Given the description of an element on the screen output the (x, y) to click on. 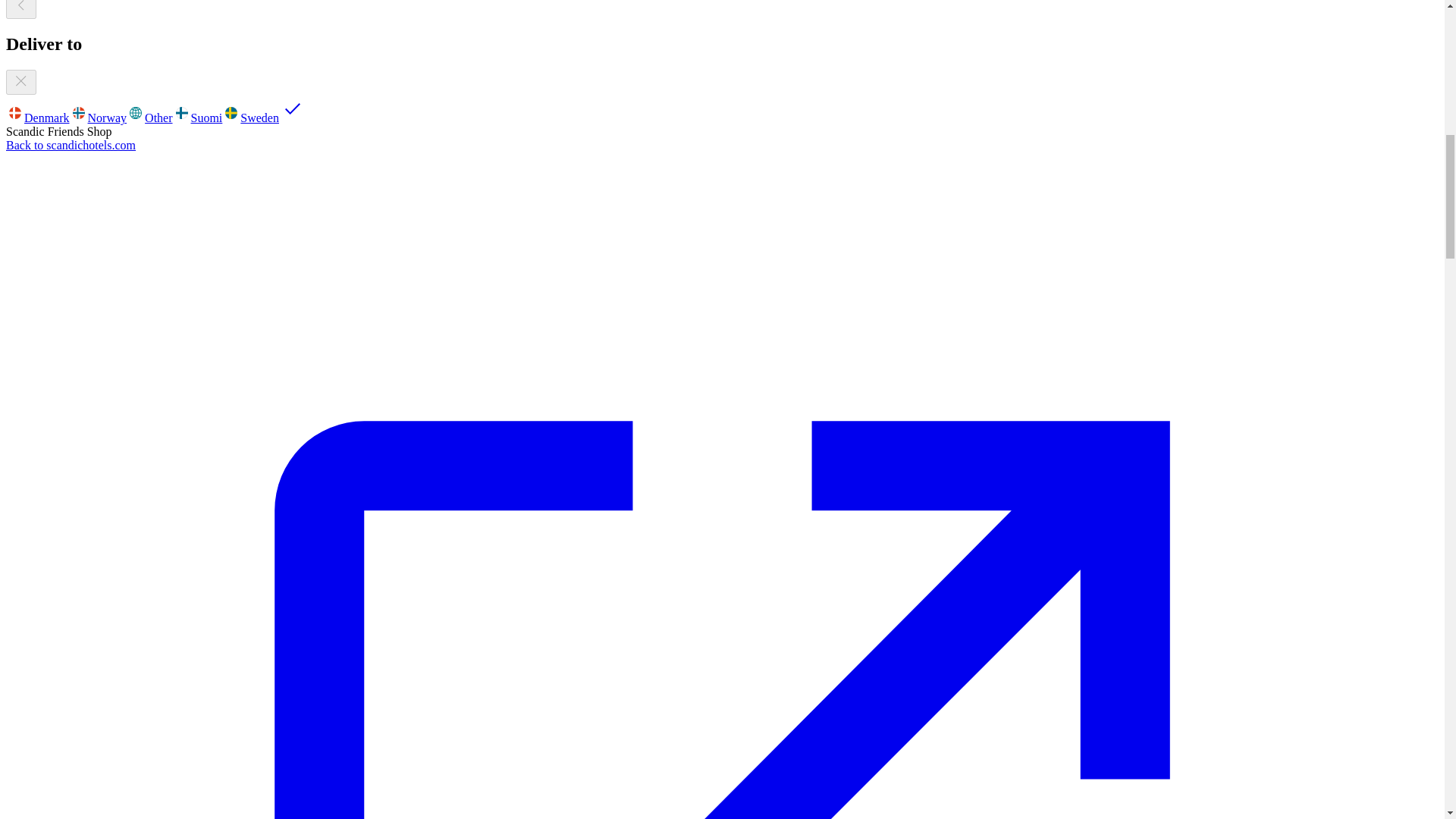
Sweden (263, 117)
Other (148, 117)
Denmark (37, 117)
Norway (98, 117)
Suomi (197, 117)
